Given the description of an element on the screen output the (x, y) to click on. 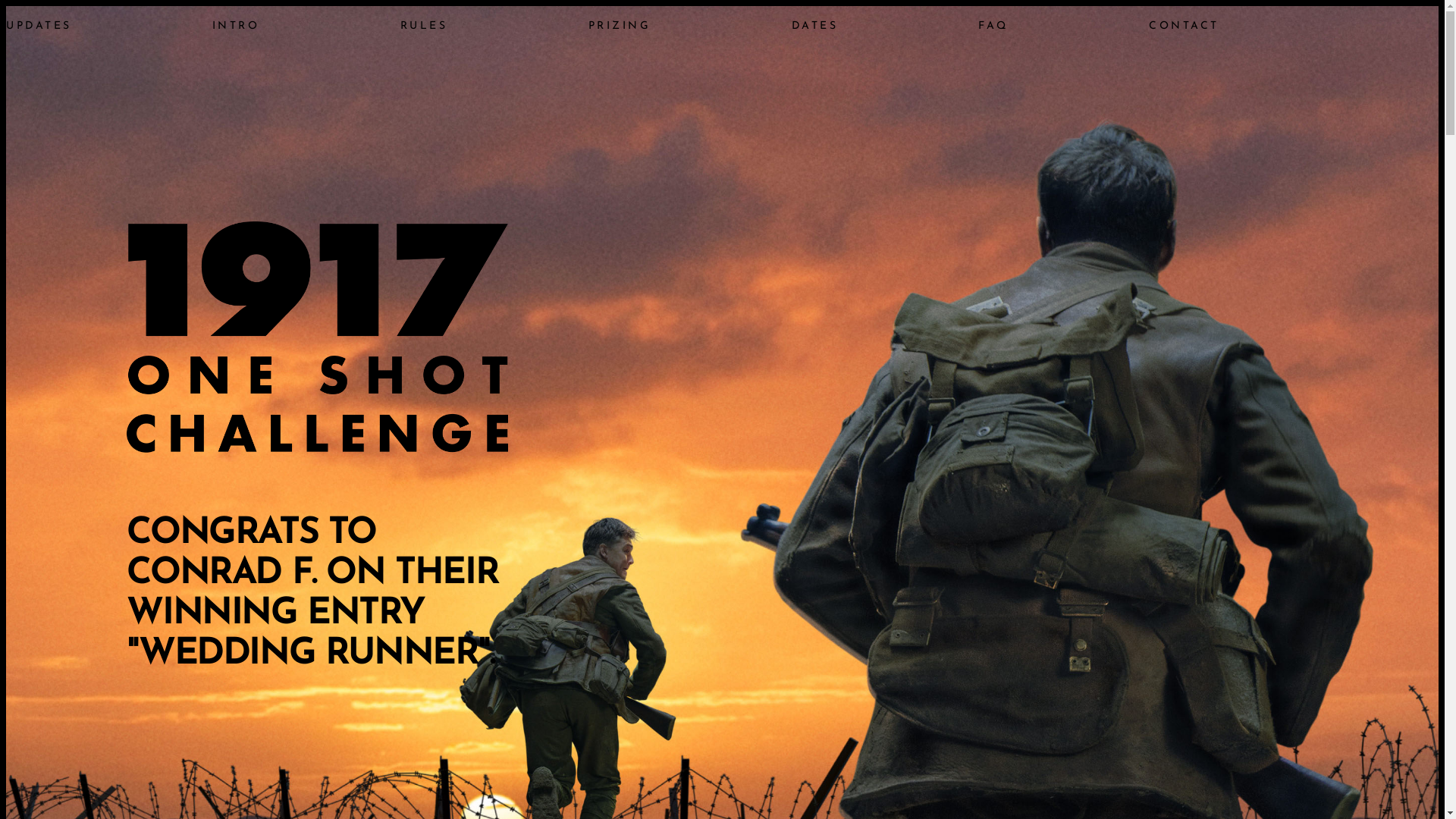
INTRO Element type: text (236, 25)
RULES Element type: text (424, 25)
CONTACT Element type: text (1183, 25)
FAQ Element type: text (993, 25)
UPDATES Element type: text (39, 25)
PRIZING Element type: text (619, 25)
DATES Element type: text (814, 25)
